Given the description of an element on the screen output the (x, y) to click on. 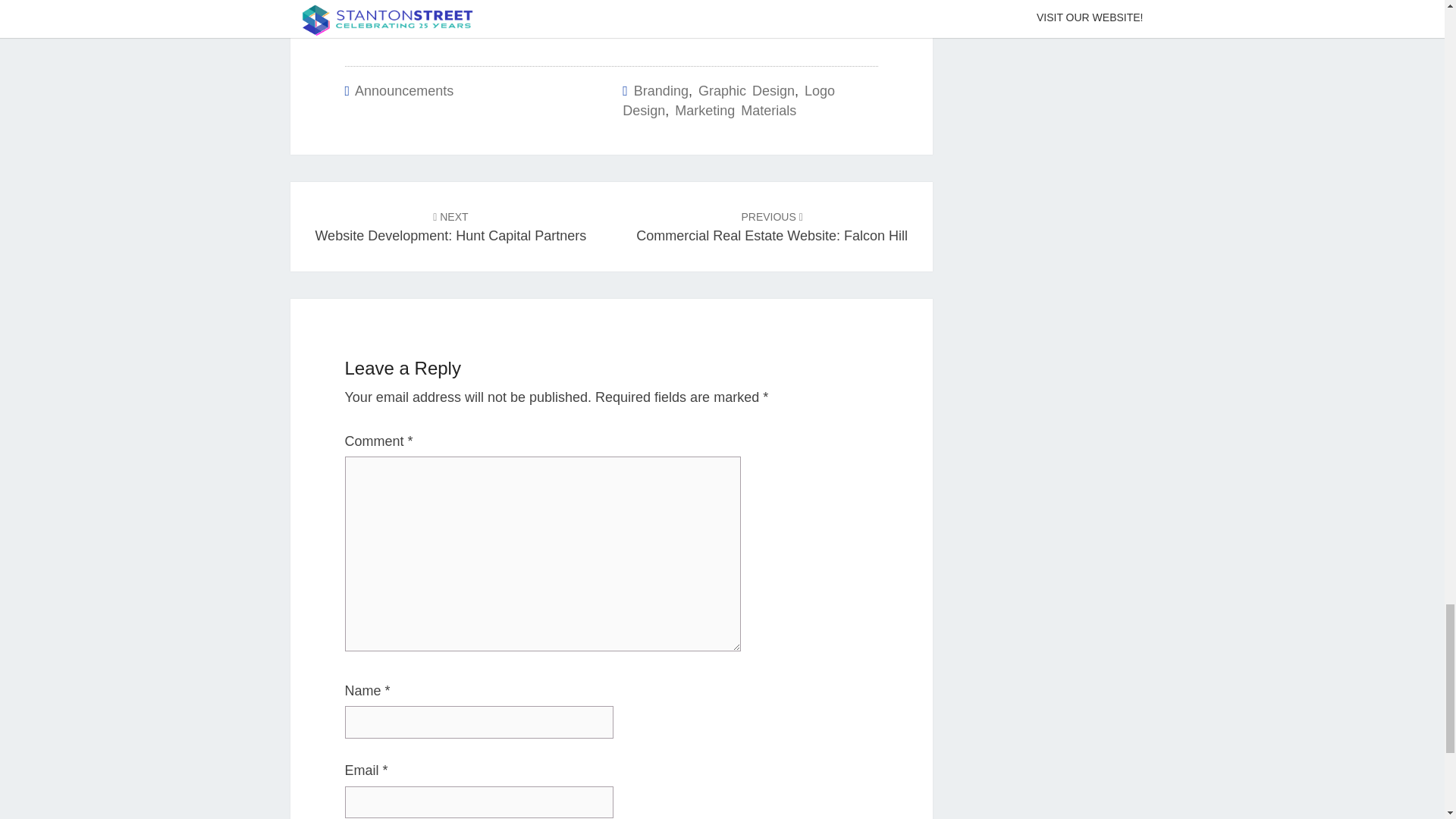
Tweet this ! (544, 24)
Share this on Facebook (407, 24)
Add this to LinkedIn (678, 24)
More share links (813, 24)
